Given the description of an element on the screen output the (x, y) to click on. 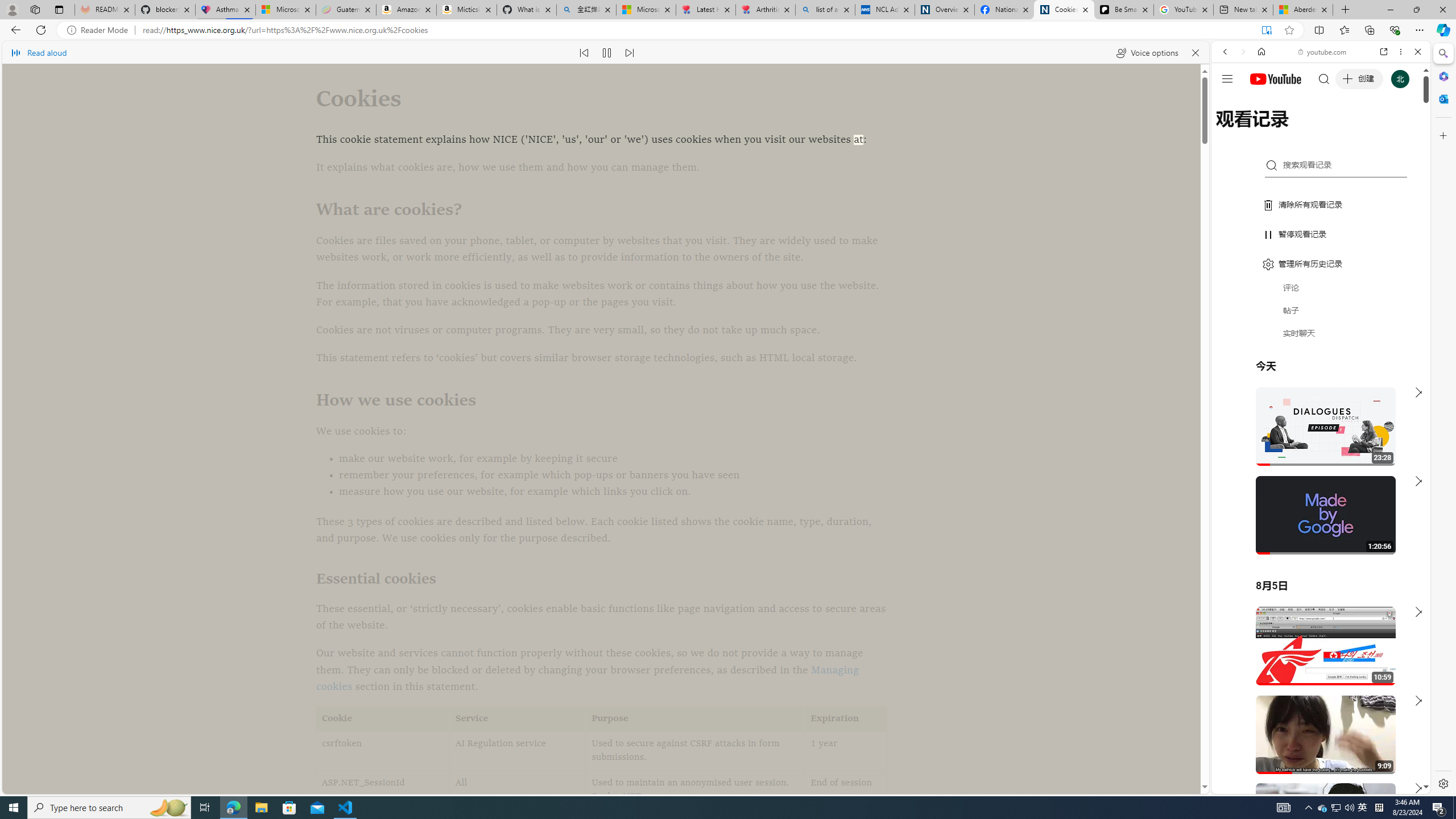
Show More Music (1390, 310)
ASP.NET_SessionId (382, 790)
csrftoken (382, 751)
#you (1315, 659)
Used to maintain an anonymised user session. Set by .NET. (695, 790)
